Given the description of an element on the screen output the (x, y) to click on. 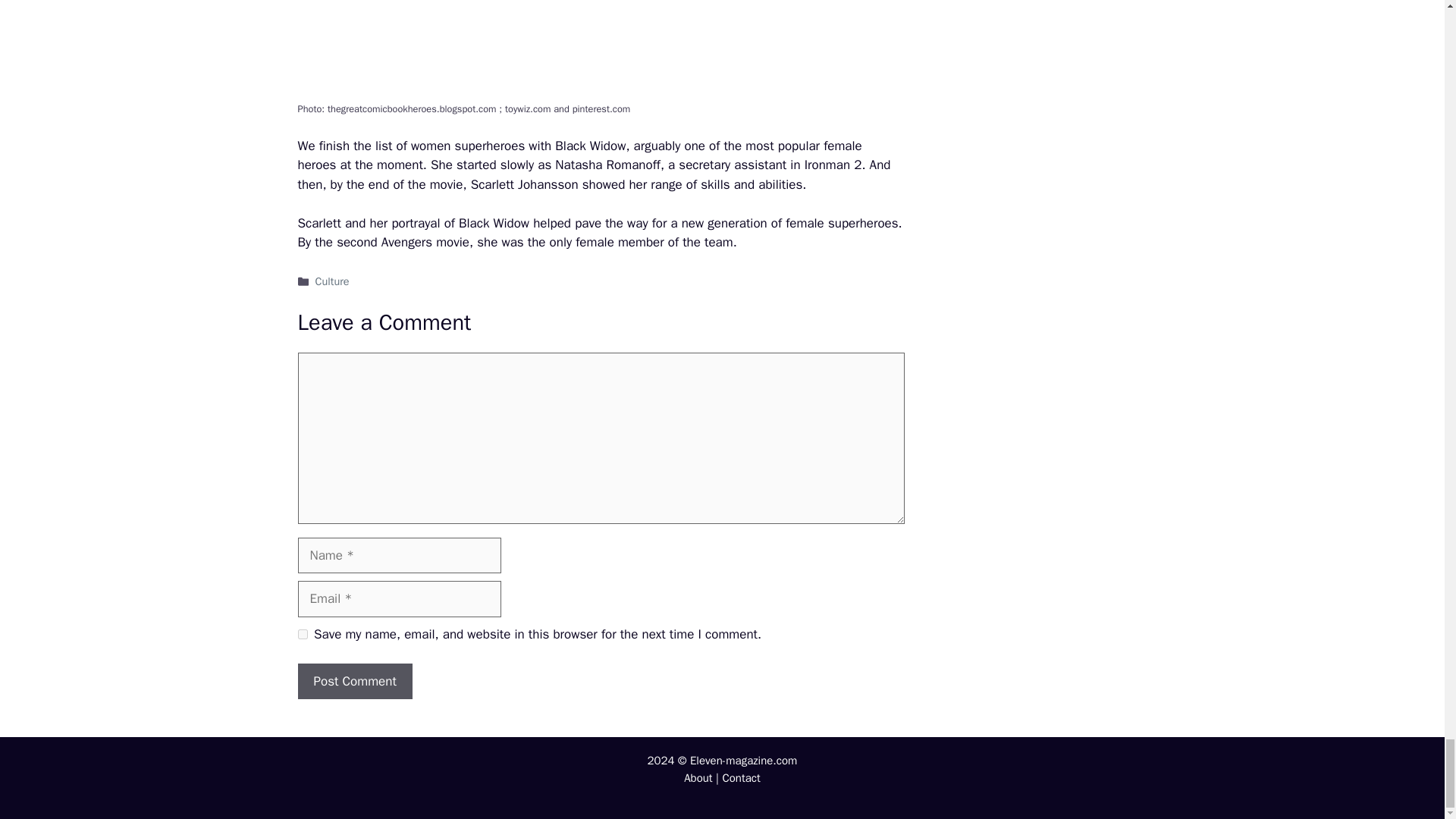
Culture (332, 281)
thegreatcomicbookheroes.blogspot.com (413, 109)
toywiz.com (529, 109)
Post Comment (354, 681)
yes (302, 634)
